Given the description of an element on the screen output the (x, y) to click on. 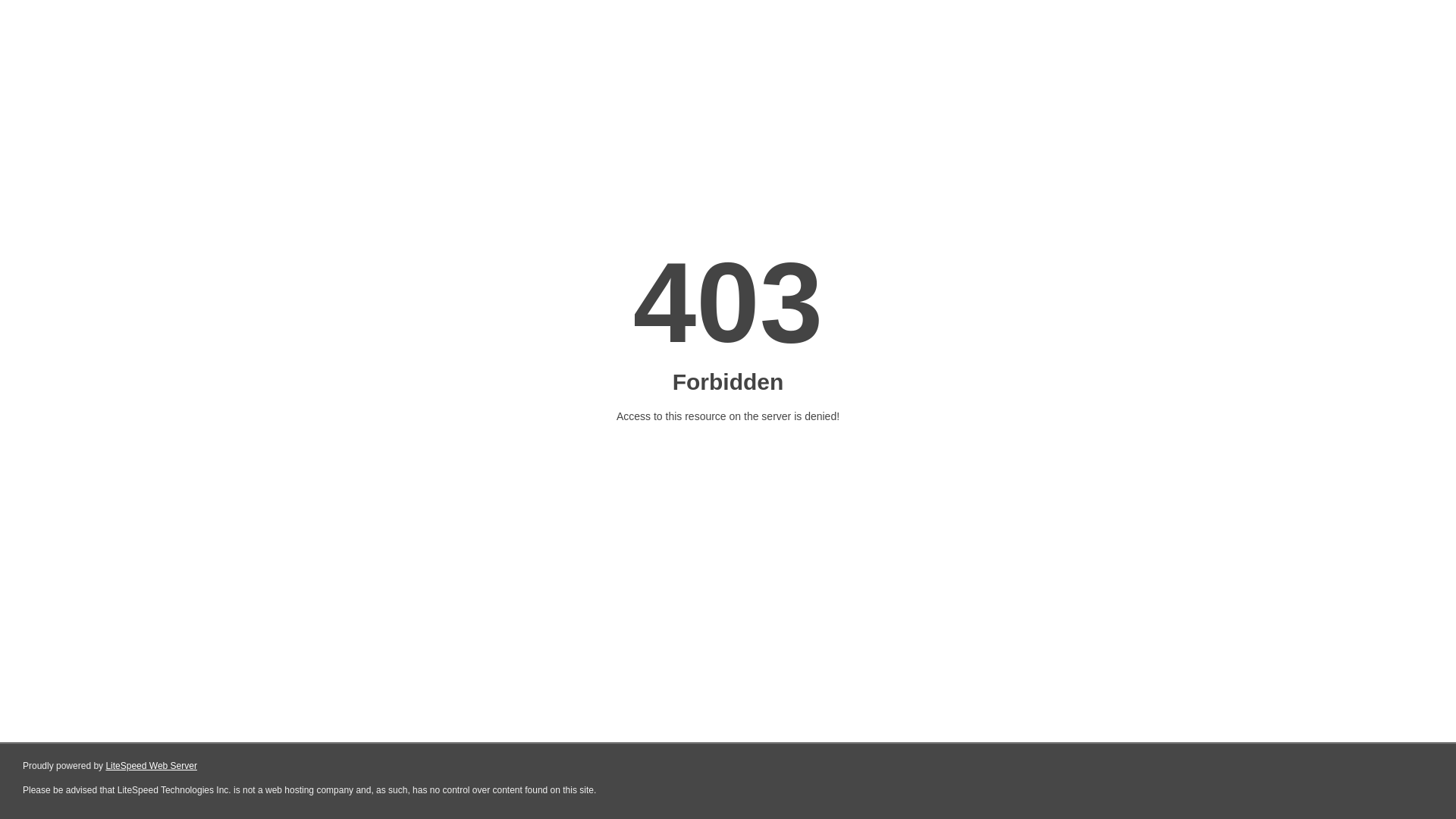
LiteSpeed Web Server Element type: text (151, 765)
